Given the description of an element on the screen output the (x, y) to click on. 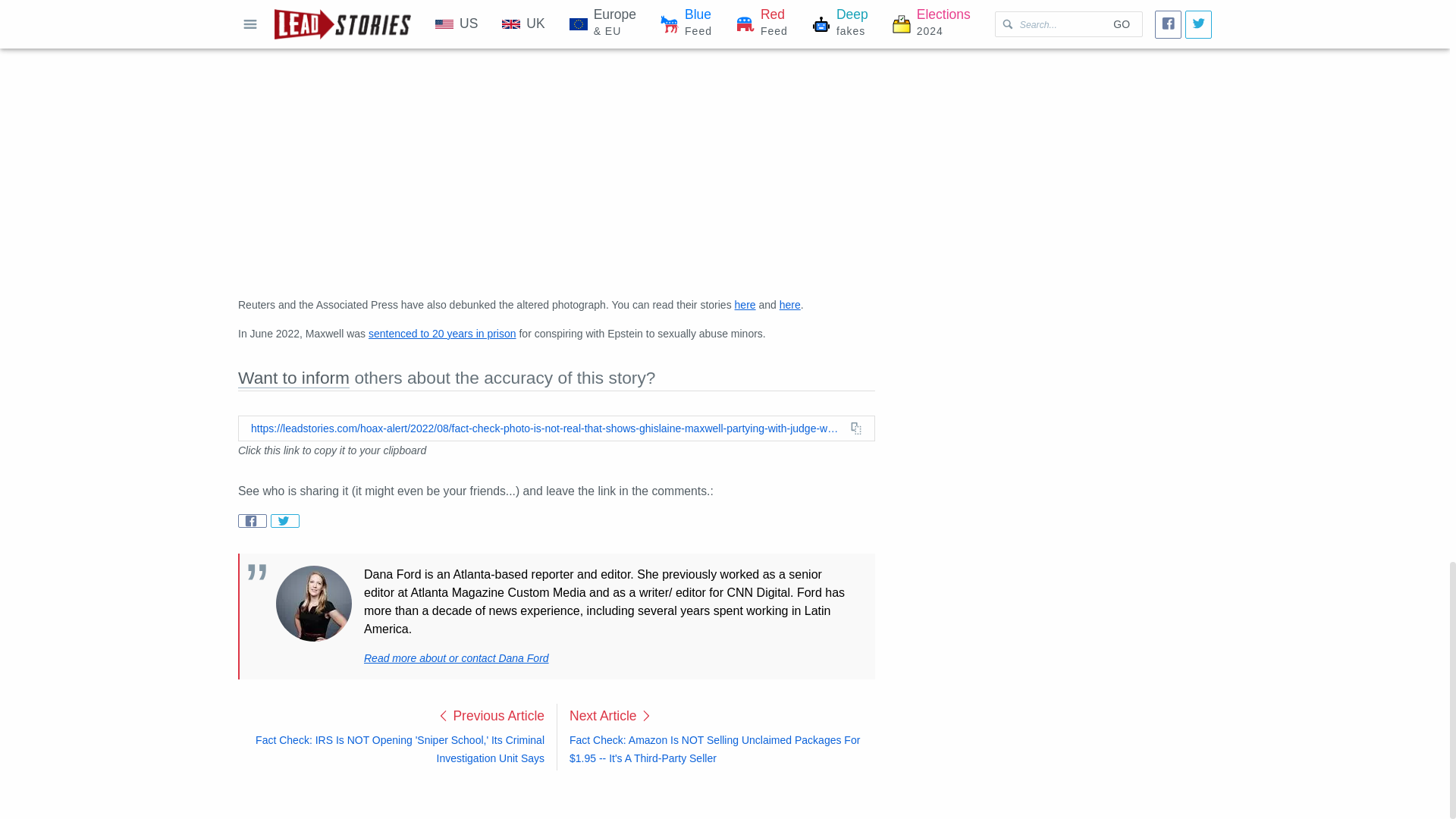
Read more about or contact Dana Ford (456, 657)
here (789, 304)
sentenced to 20 years in prison (442, 333)
here (745, 304)
